Given the description of an element on the screen output the (x, y) to click on. 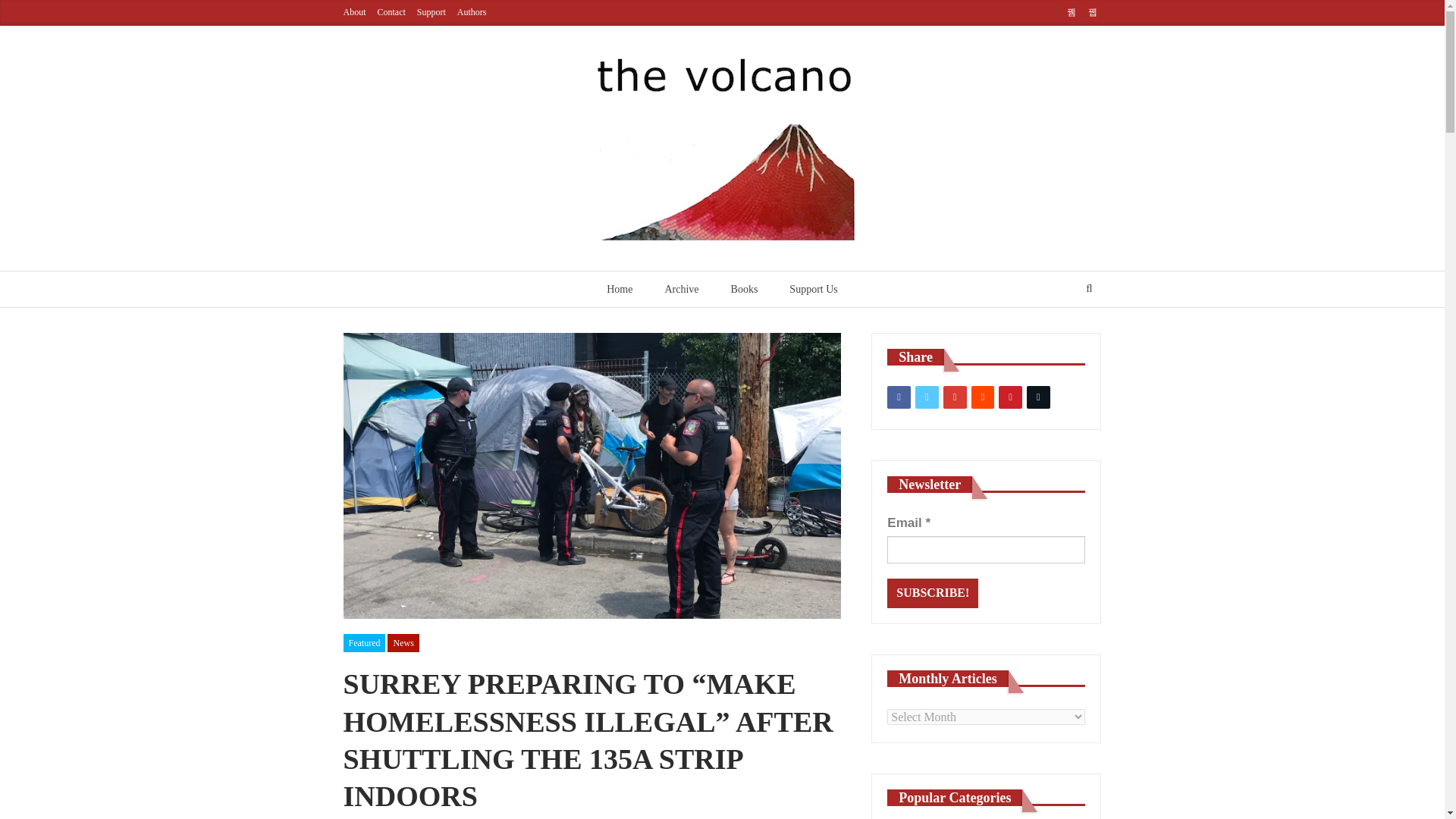
Contact (391, 11)
News (403, 642)
Subscribe! (932, 592)
Archive (681, 289)
Authors (471, 11)
Support Us (812, 289)
Featured (363, 642)
Home (619, 289)
About (353, 11)
Email (985, 549)
Books (744, 289)
Support (430, 11)
